Given the description of an element on the screen output the (x, y) to click on. 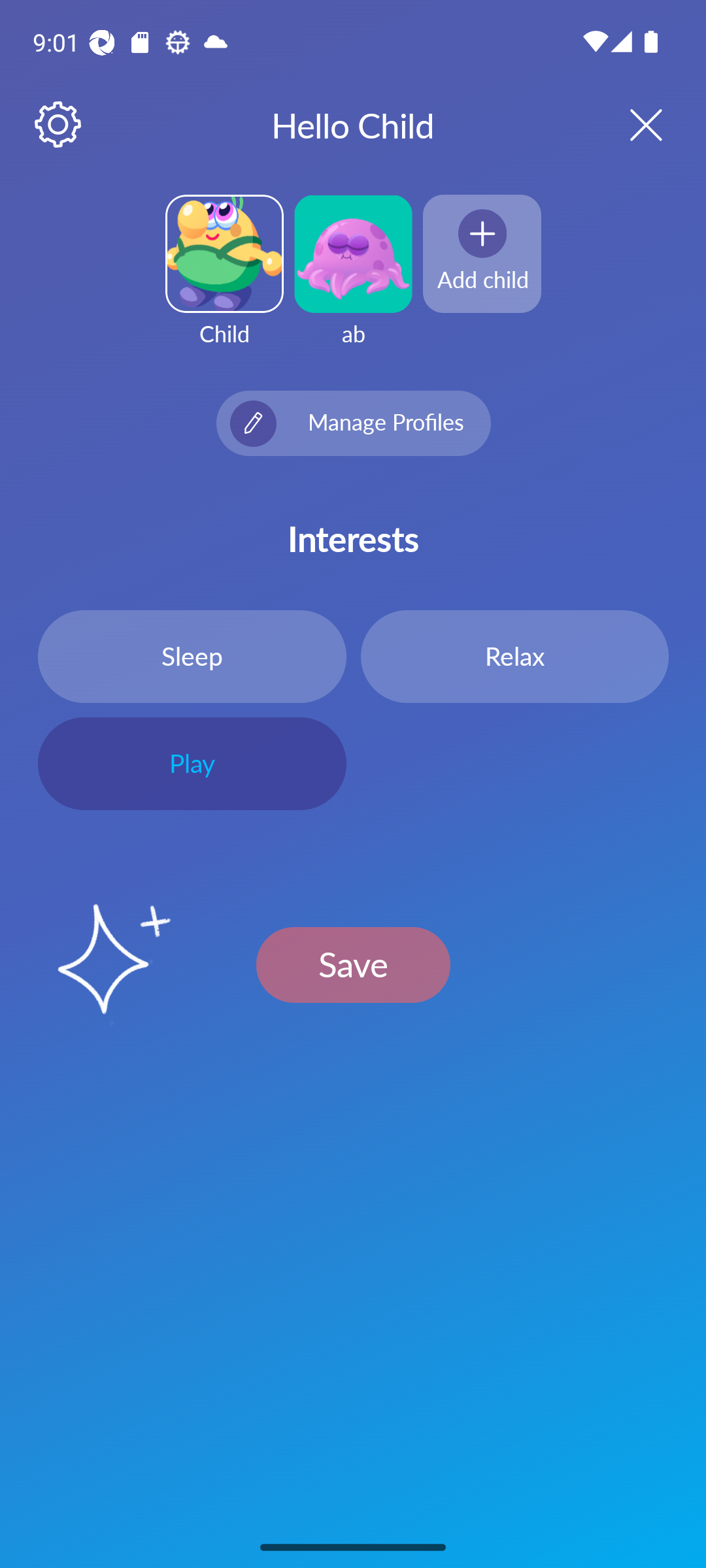
Close (629, 124)
Settings (58, 125)
Child (224, 282)
ab (353, 282)
Add child (481, 253)
icon Manage Profiles (353, 423)
Sleep (192, 655)
Relax (514, 655)
Play (192, 764)
Save (353, 964)
